Given the description of an element on the screen output the (x, y) to click on. 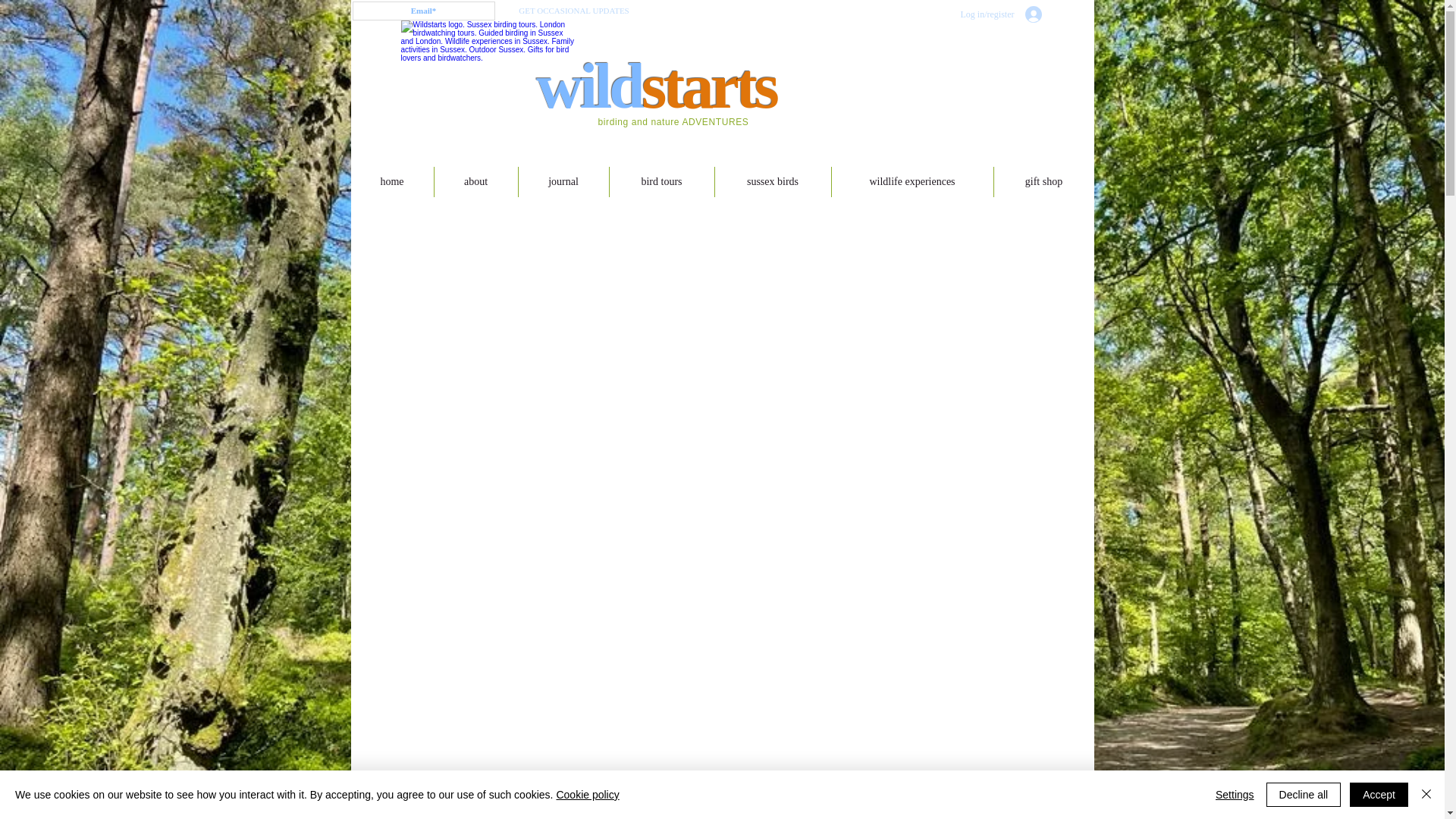
GET OCCASIONAL UPDATES (574, 10)
gift shop (1042, 182)
Accept (1378, 794)
journal (563, 182)
Decline all (1303, 794)
home (391, 182)
Cookie policy (587, 794)
ildstarts (677, 85)
sussex birds (771, 182)
bird tours (662, 182)
